Given the description of an element on the screen output the (x, y) to click on. 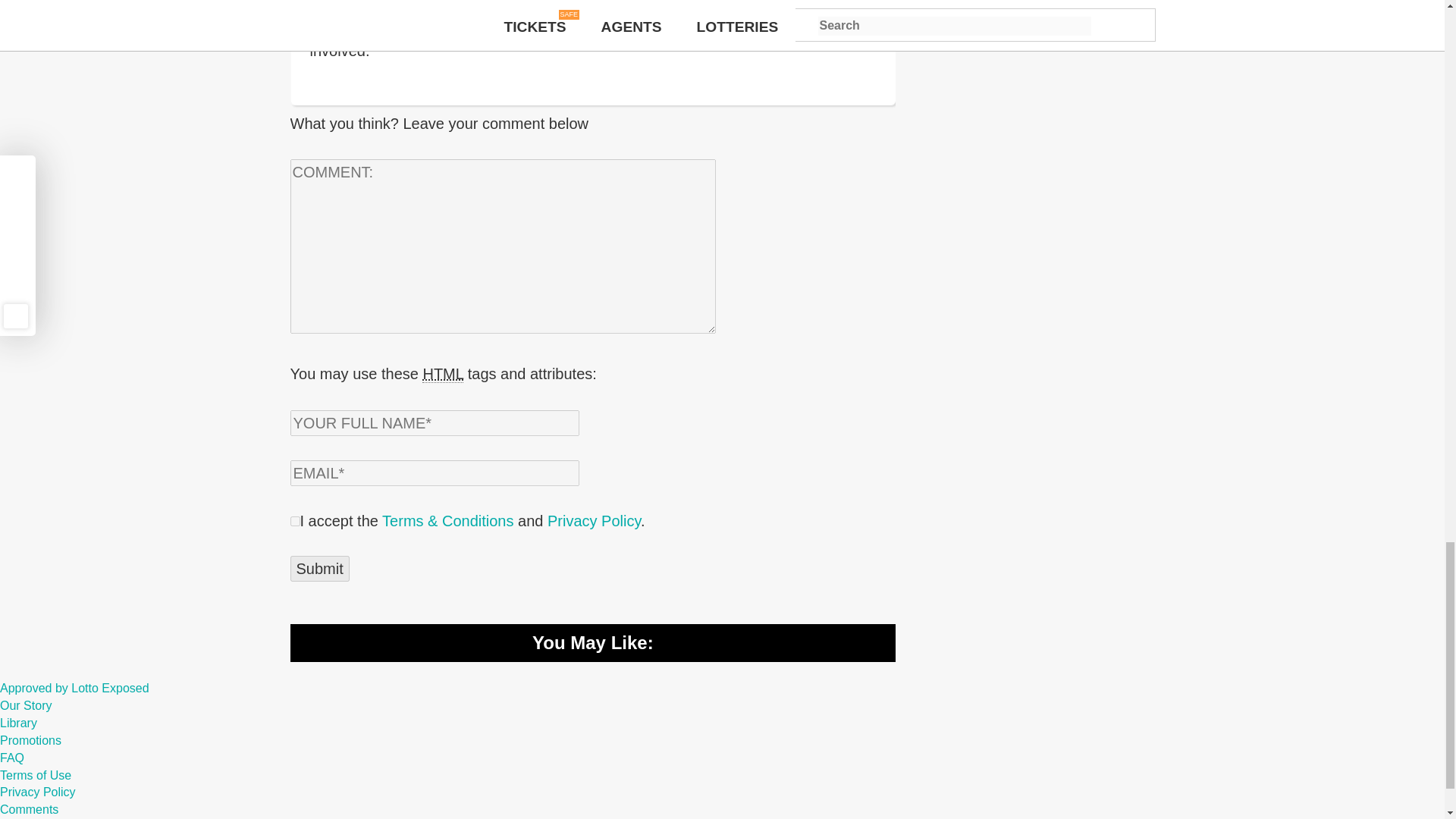
Our Story (25, 705)
on (294, 521)
Terms of Use (35, 775)
Approved by Lotto Exposed (74, 687)
Promotions (30, 739)
HyperText Markup Language (442, 374)
Submit (319, 568)
Comments (29, 809)
Privacy Policy (593, 520)
FAQ (12, 757)
